Given the description of an element on the screen output the (x, y) to click on. 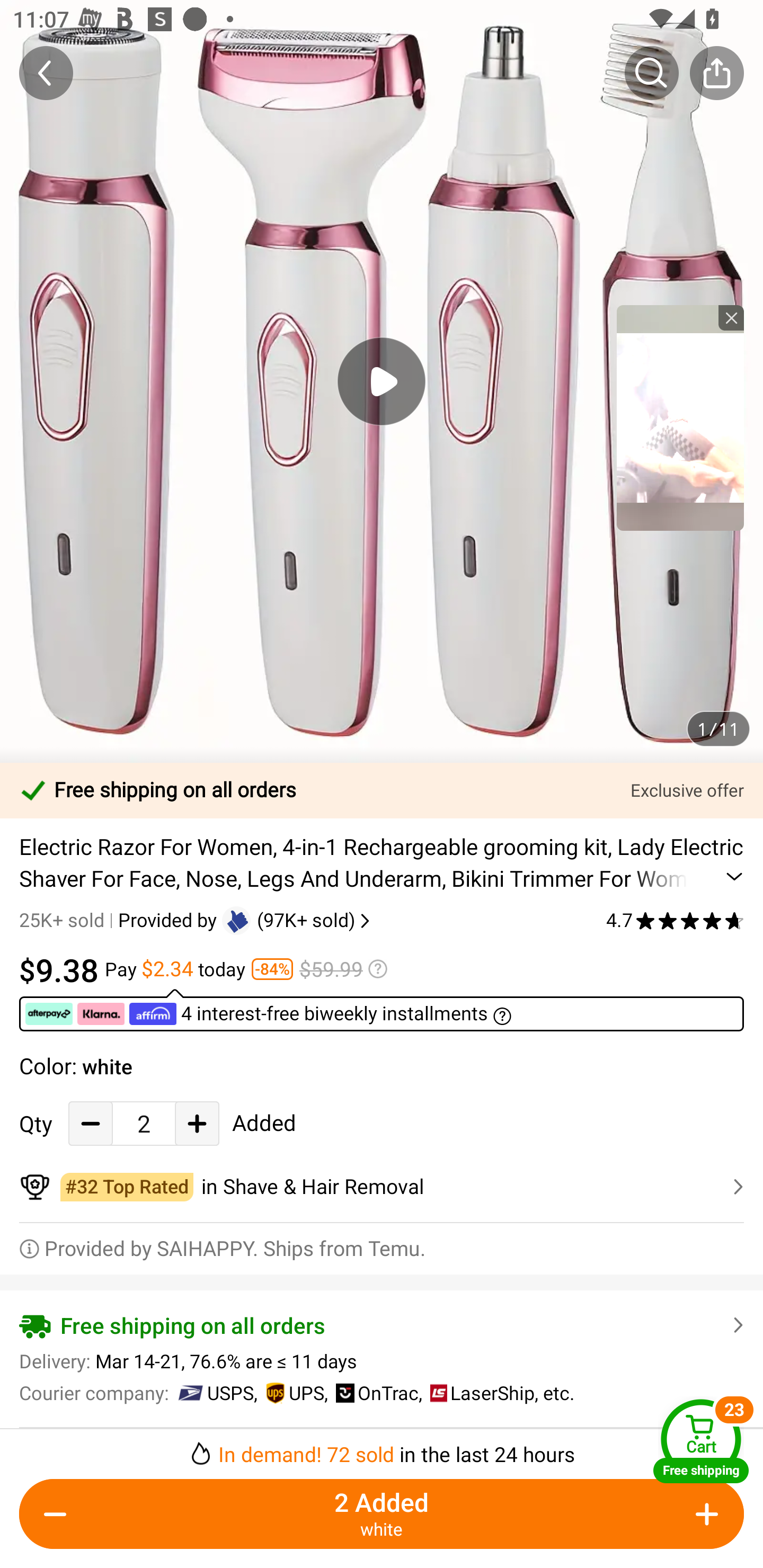
Back (46, 72)
Share (716, 72)
tronplayer_view (680, 417)
Free shipping on all orders Exclusive offer (381, 790)
25K+ sold Provided by  (120, 920)
4.7 (674, 920)
￼ ￼ ￼ 4 interest-free biweekly installments ￼ (381, 1009)
Decrease Quantity Button (90, 1123)
2 (143, 1123)
Add Quantity button (196, 1123)
￼￼in Shave & Hair Removal (381, 1186)
Cart Free shipping Cart (701, 1440)
￼￼In demand! 72 sold in the last 24 hours (381, 1448)
Decrease Quantity Button (59, 1513)
Add Quantity button (703, 1513)
